Given the description of an element on the screen output the (x, y) to click on. 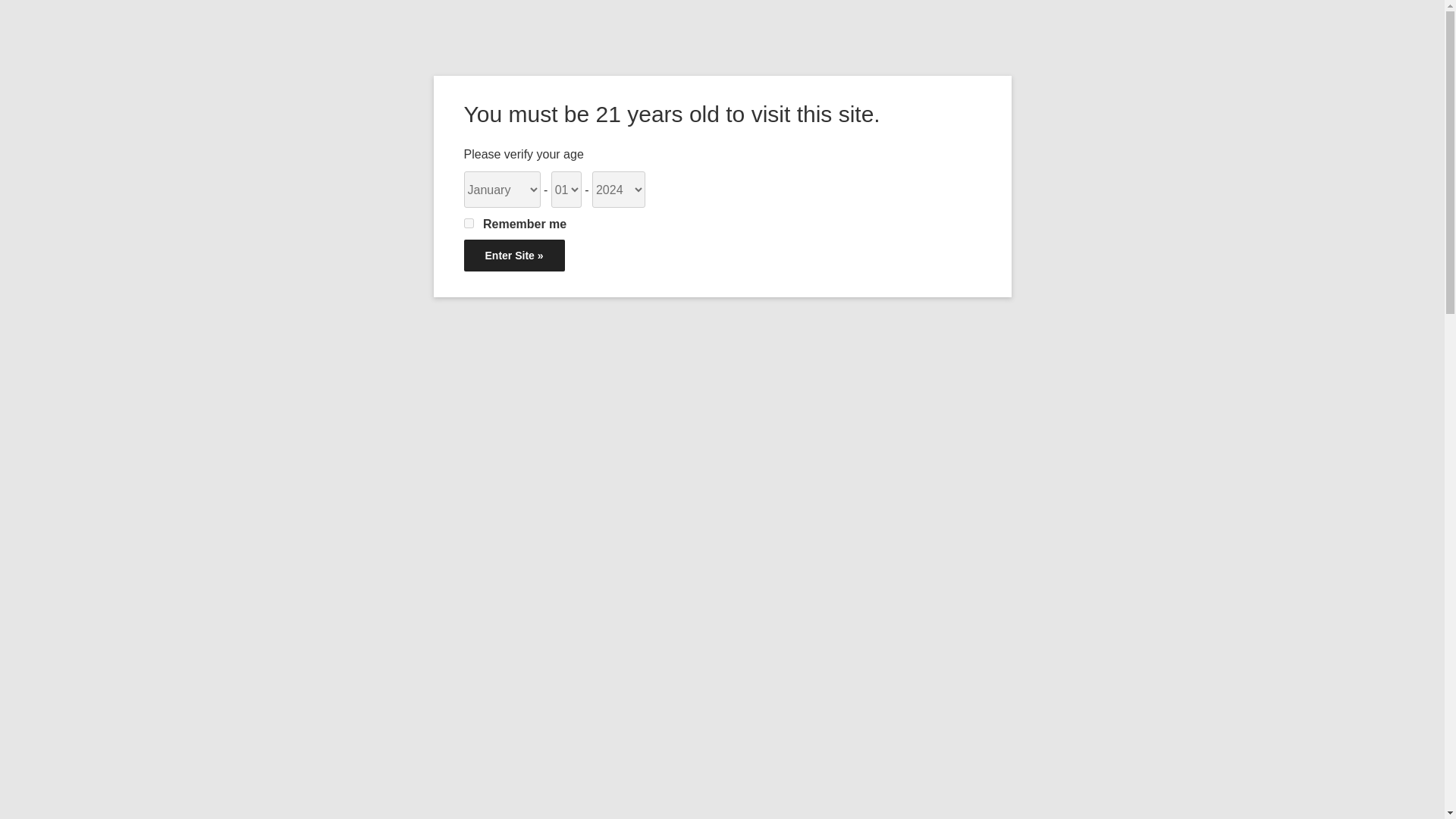
1 (469, 223)
FOREX (418, 798)
PERFORMANCE (480, 159)
AMAZON APP PN (444, 777)
Accept (840, 795)
JANUARY 14, 2016 (427, 259)
FOREX SIGNALS (488, 798)
Sofia Stavropoulou (862, 526)
Read More (904, 796)
ADMIN (517, 259)
HOME (393, 159)
TECH. ANALYSIS STUDIES (792, 159)
